Given the description of an element on the screen output the (x, y) to click on. 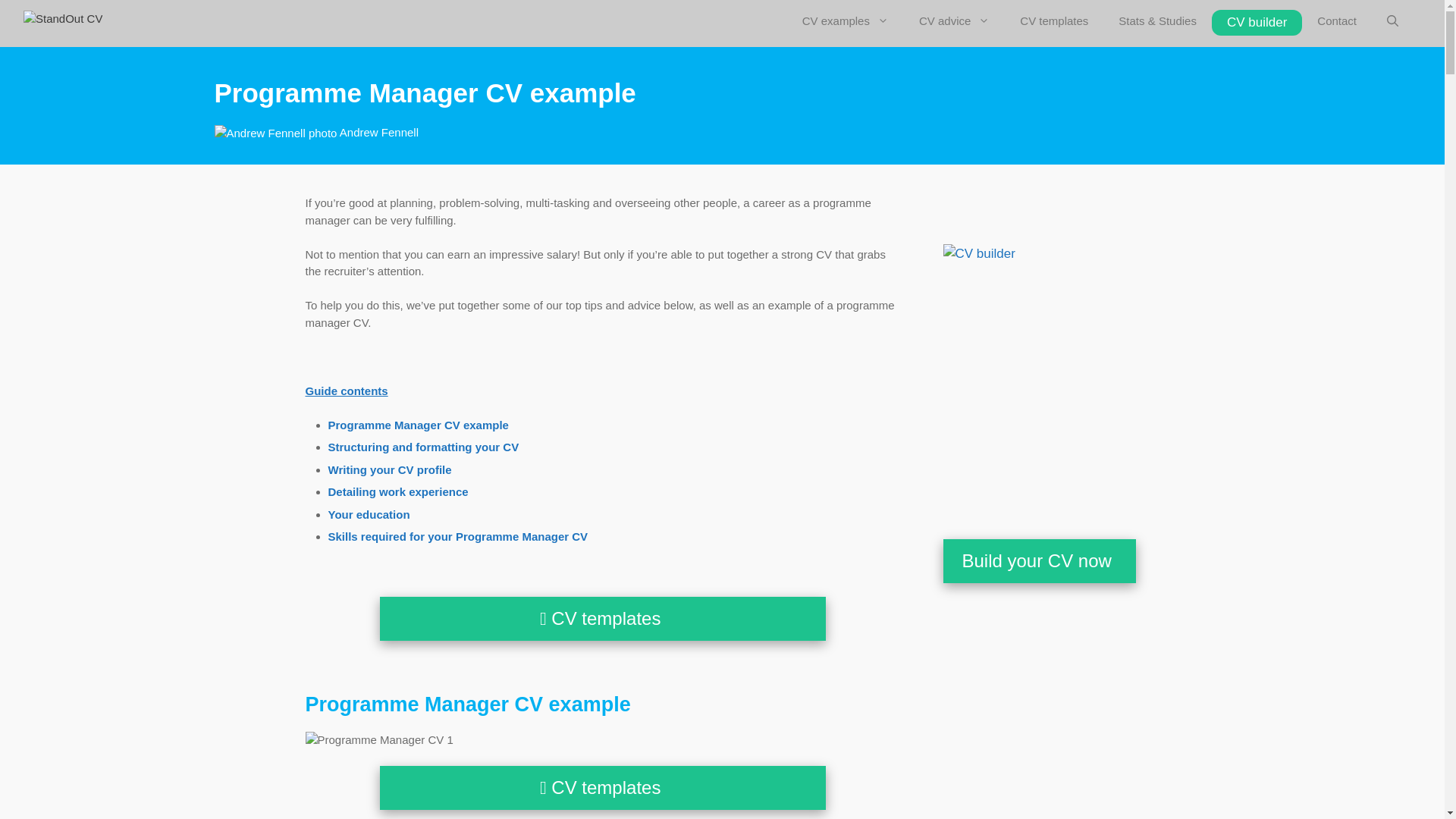
CV examples (845, 20)
